Given the description of an element on the screen output the (x, y) to click on. 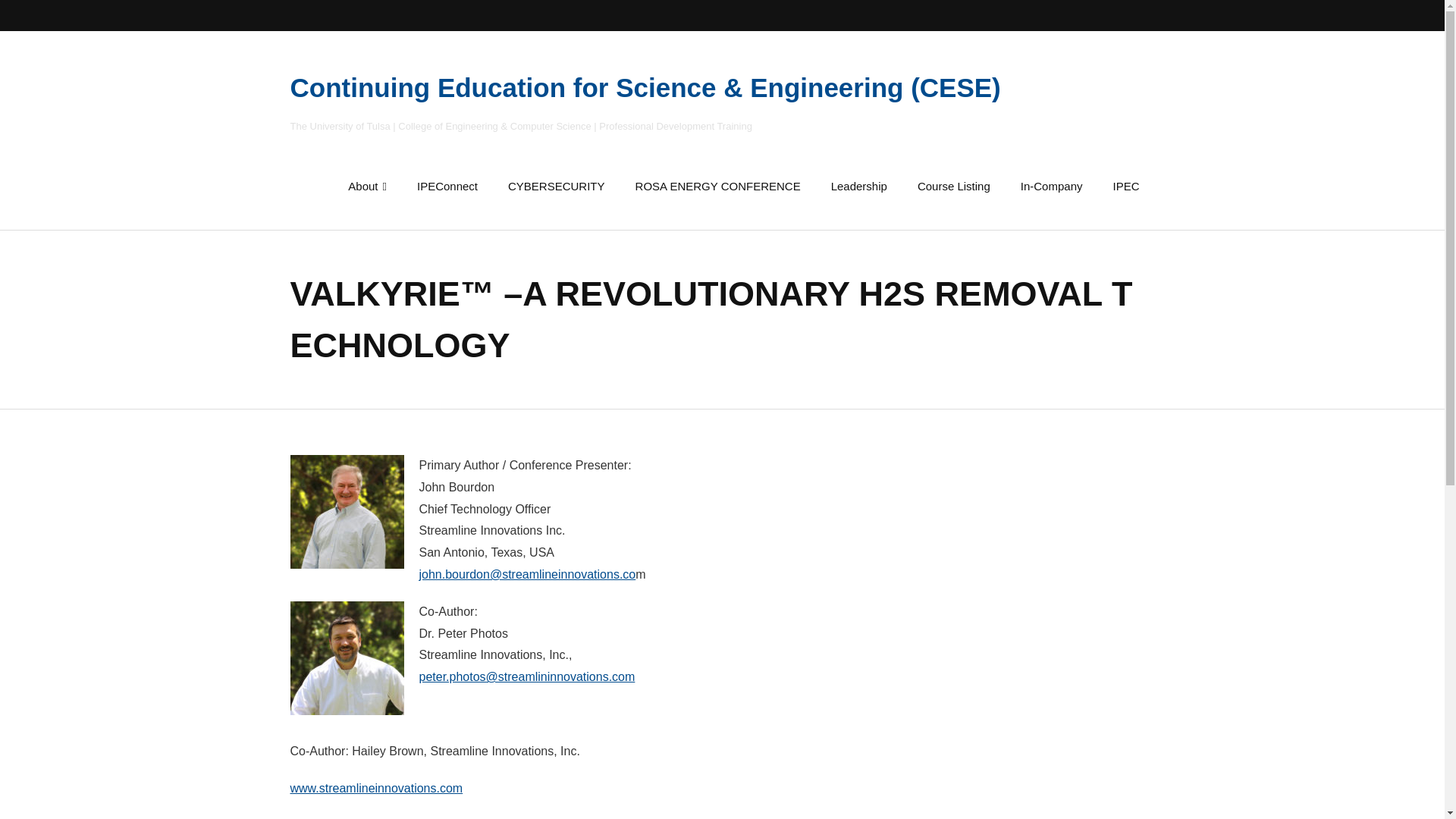
Course Listing (954, 185)
ROSA ENERGY CONFERENCE (717, 185)
CYBERSECURITY (556, 185)
